Given the description of an element on the screen output the (x, y) to click on. 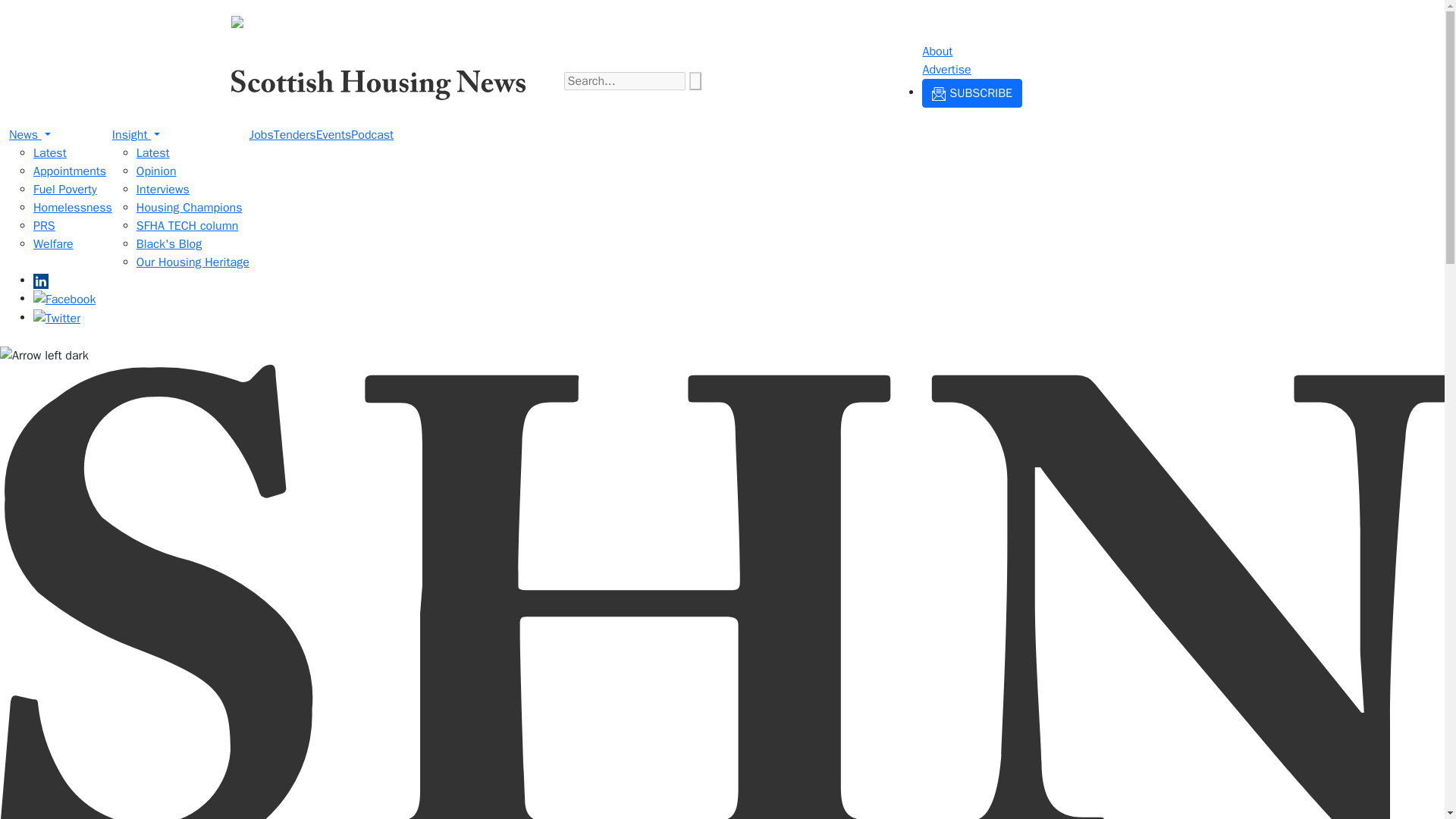
SFHA TECH column (187, 225)
Black's Blog (169, 243)
Our Housing Heritage (192, 262)
Housing Champions (189, 207)
PRS (44, 225)
Latest (49, 152)
News (29, 134)
Latest (153, 152)
Interviews (162, 189)
Tenders (294, 134)
Fuel Poverty (65, 189)
Insight (136, 134)
Homelessness (72, 207)
Podcast (371, 134)
Events (333, 134)
